Given the description of an element on the screen output the (x, y) to click on. 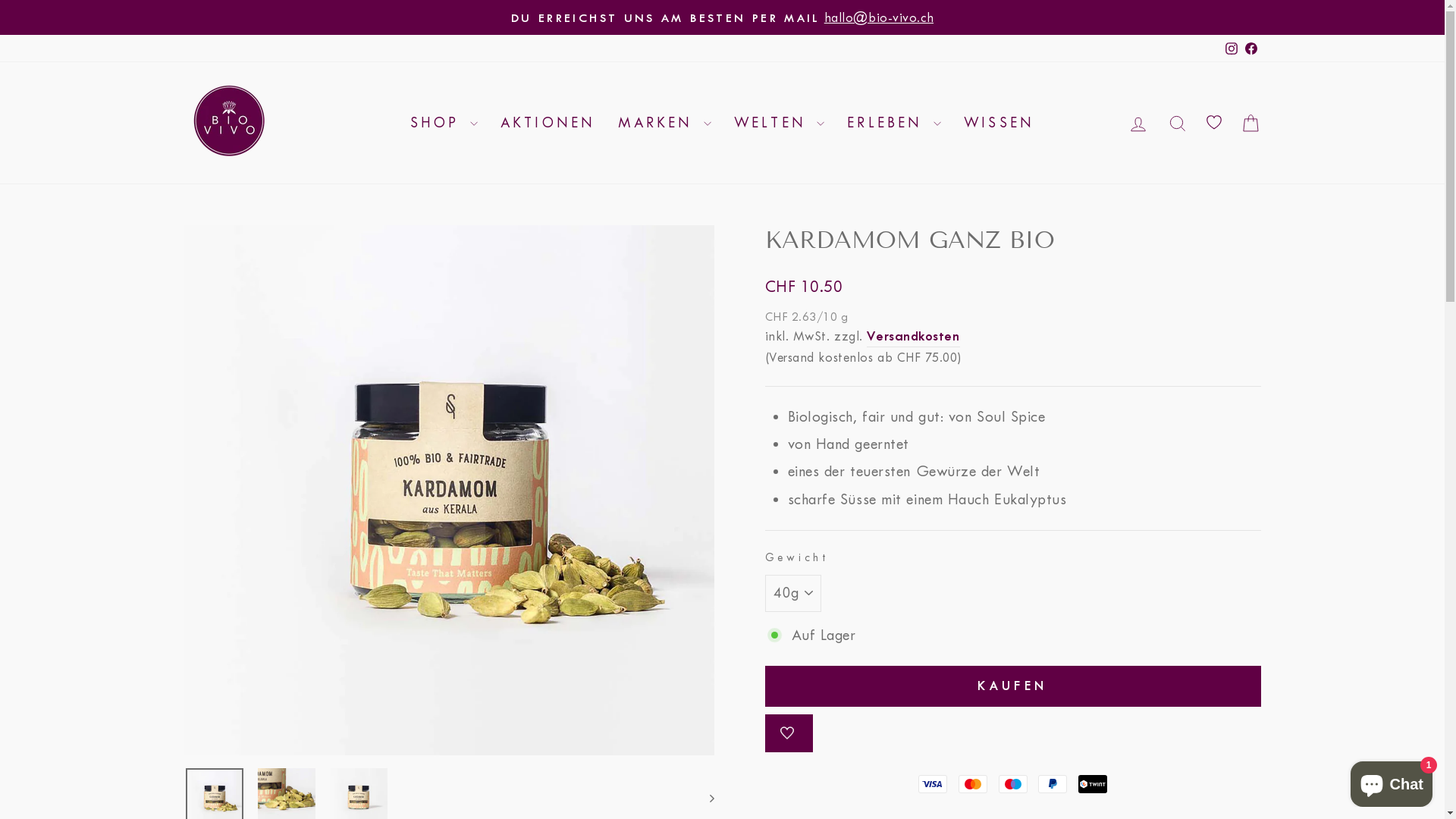
AKTIONEN Element type: text (548, 122)
ICON-SEARCH
SUCHE Element type: text (1176, 123)
EINKAUFSWAGEN Element type: text (1249, 123)
WISSEN Element type: text (998, 122)
Facebook Element type: text (1250, 48)
Onlineshop-Chat von Shopify Element type: hover (1391, 780)
ACCOUNT
EINLOGGEN Element type: text (1137, 123)
WIR SIND EIN SCHWEIZER ONLINE-SHOPmit Erlebniswelt Element type: text (722, 17)
Versandkosten Element type: text (912, 336)
KAUFEN Element type: text (1012, 685)
instagram
Instagram Element type: text (1230, 48)
null Element type: hover (788, 733)
